Given the description of an element on the screen output the (x, y) to click on. 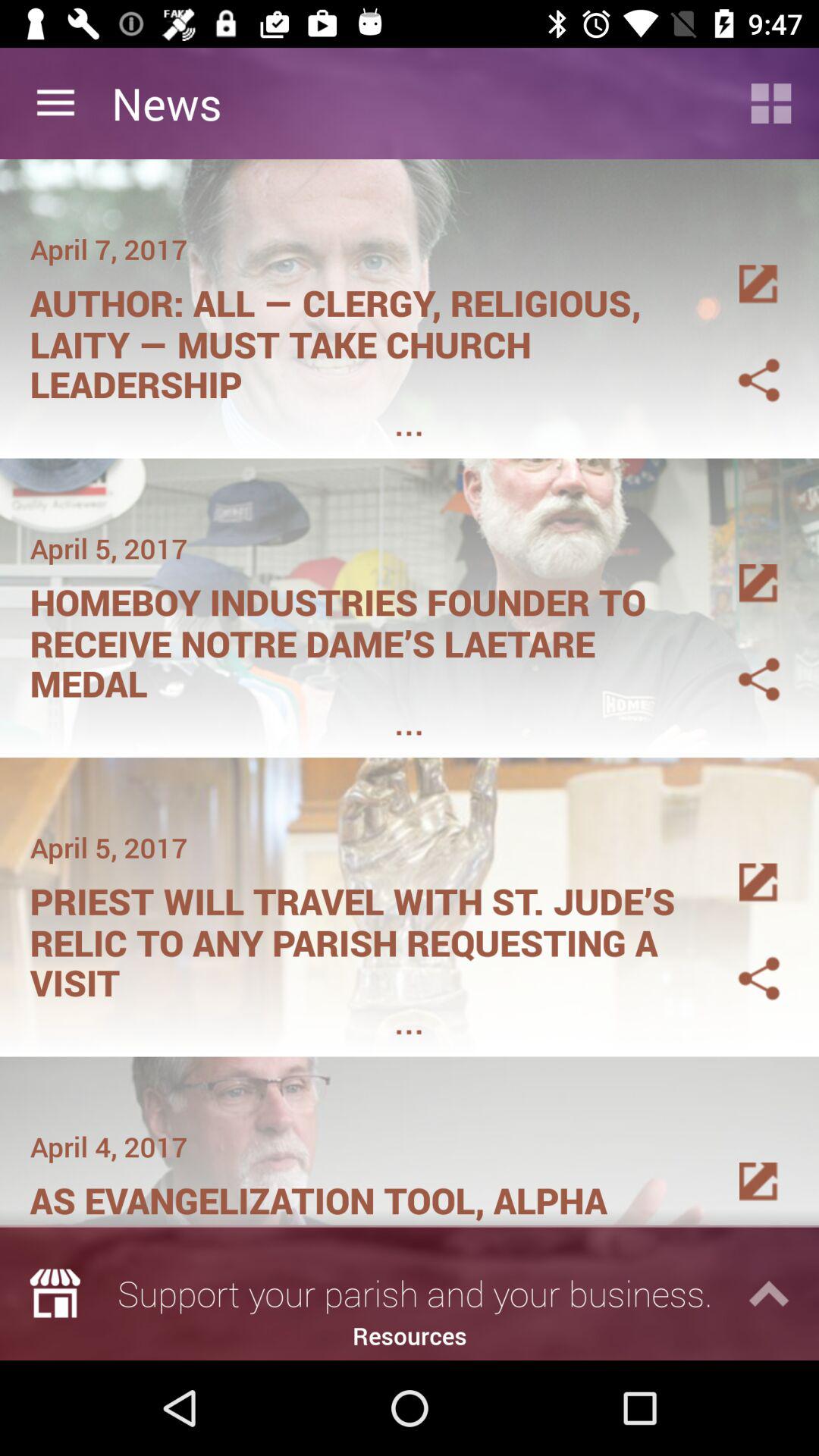
show full screen (740, 864)
